Given the description of an element on the screen output the (x, y) to click on. 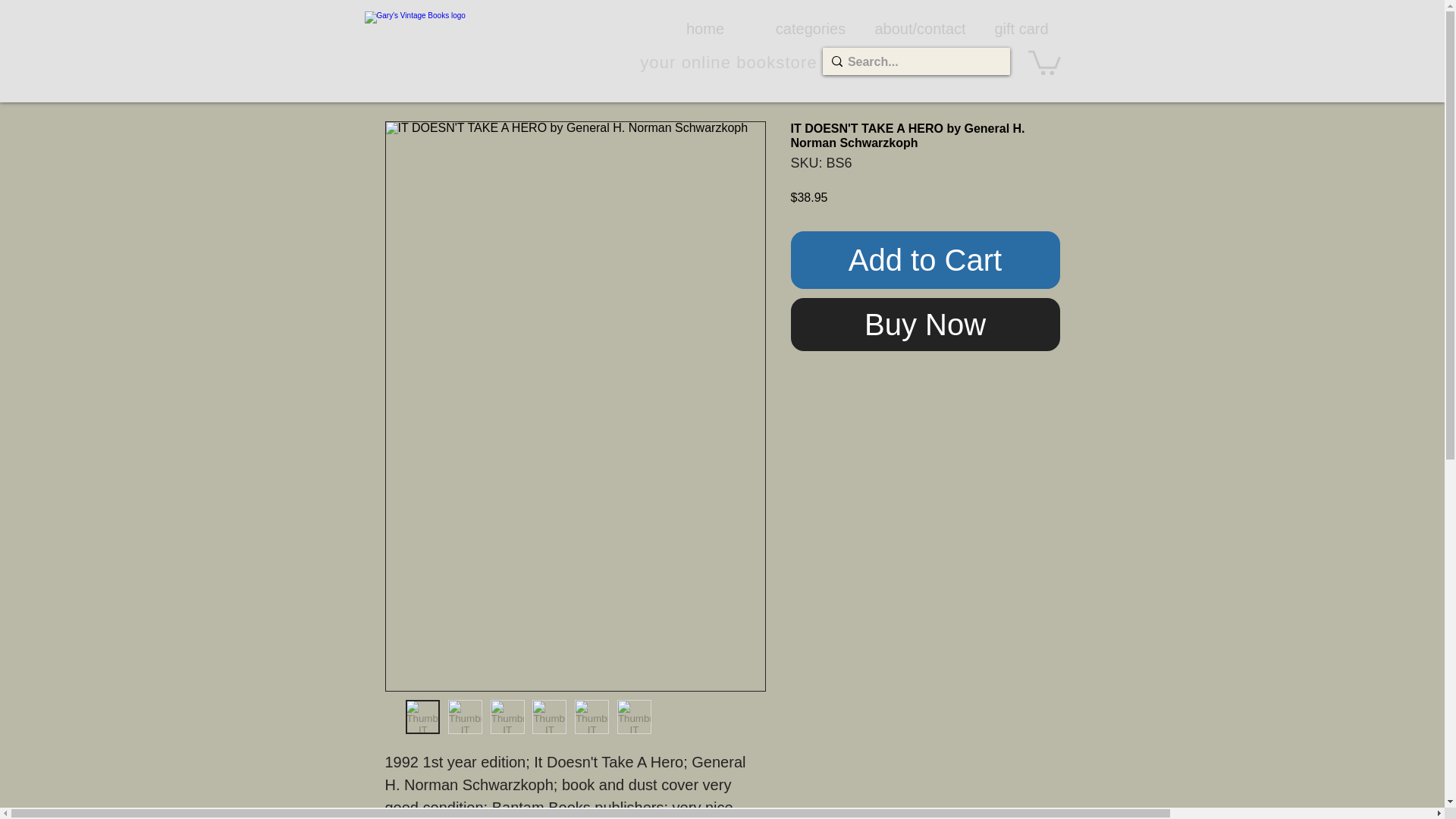
your online bookstore (728, 62)
gift card (1021, 28)
home (704, 28)
Buy Now (924, 324)
Add to Cart (924, 259)
categories (810, 28)
